Given the description of an element on the screen output the (x, y) to click on. 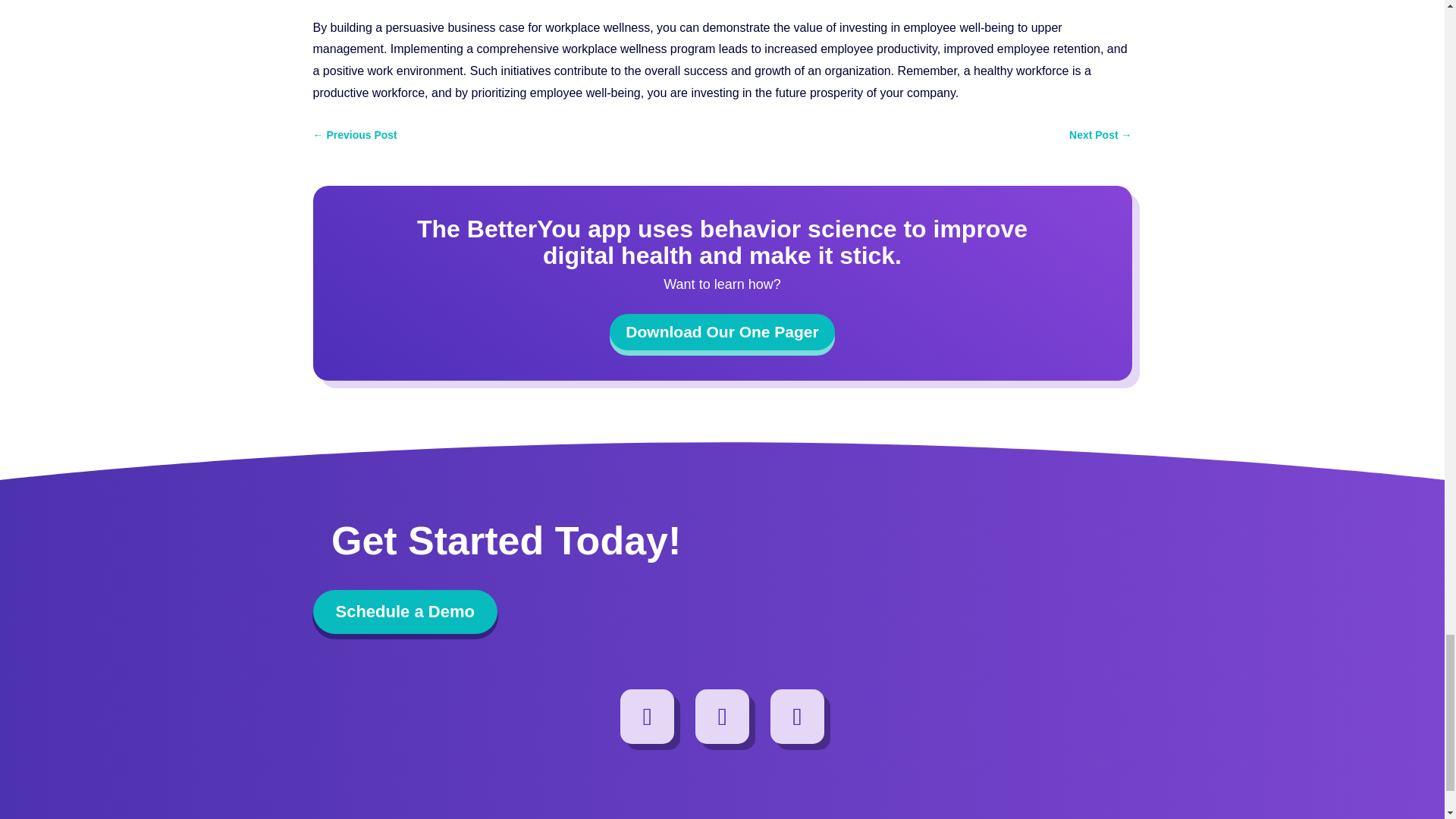
Schedule a Demo (404, 611)
Follow on Instagram (647, 716)
Download Our One Pager (722, 331)
Follow on TikTok (797, 716)
Follow on LinkedIn (722, 716)
